Given the description of an element on the screen output the (x, y) to click on. 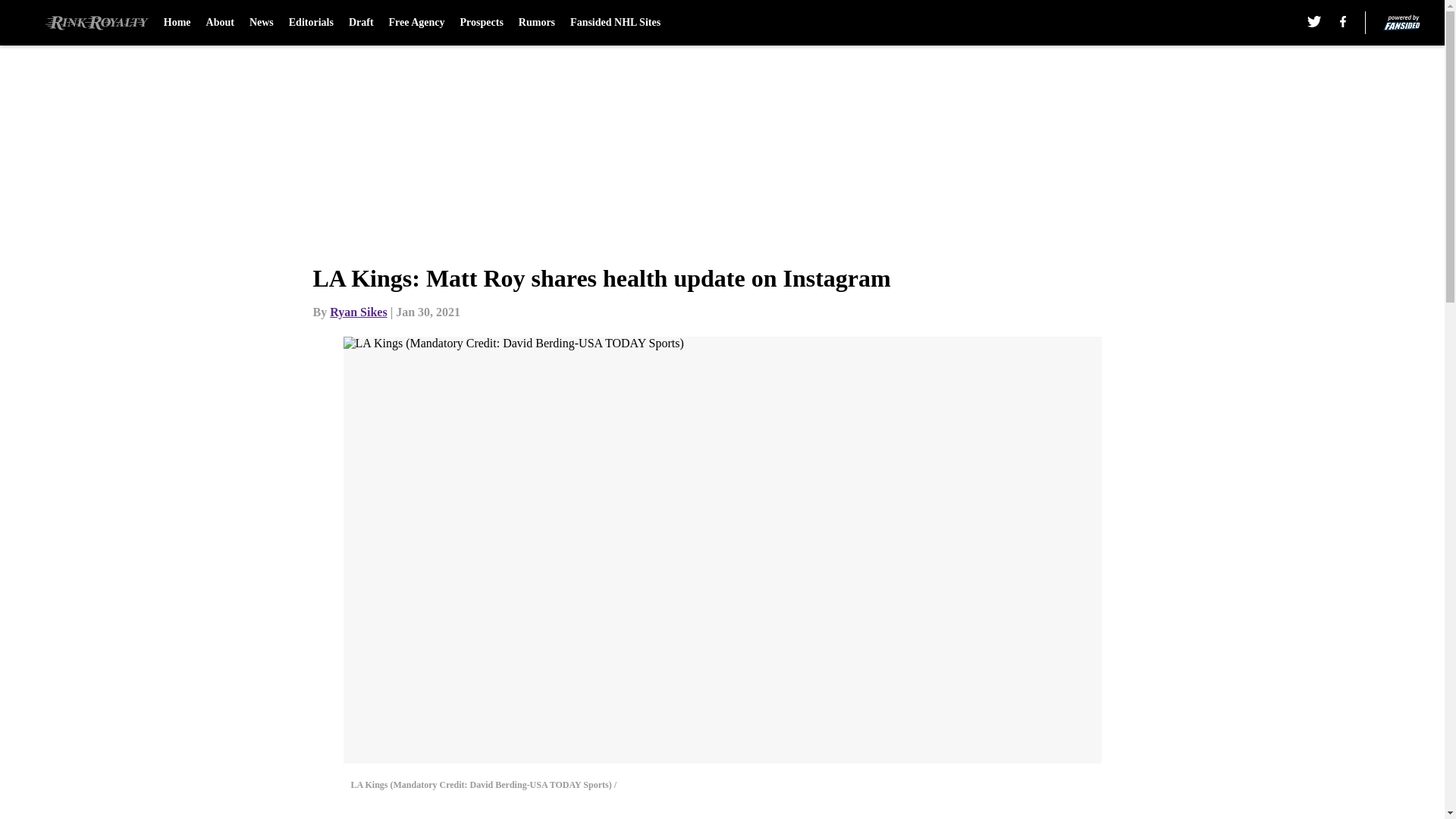
Home (176, 22)
Free Agency (416, 22)
Fansided NHL Sites (615, 22)
Ryan Sikes (358, 311)
Draft (361, 22)
About (220, 22)
News (260, 22)
Rumors (536, 22)
Editorials (310, 22)
Prospects (481, 22)
